Given the description of an element on the screen output the (x, y) to click on. 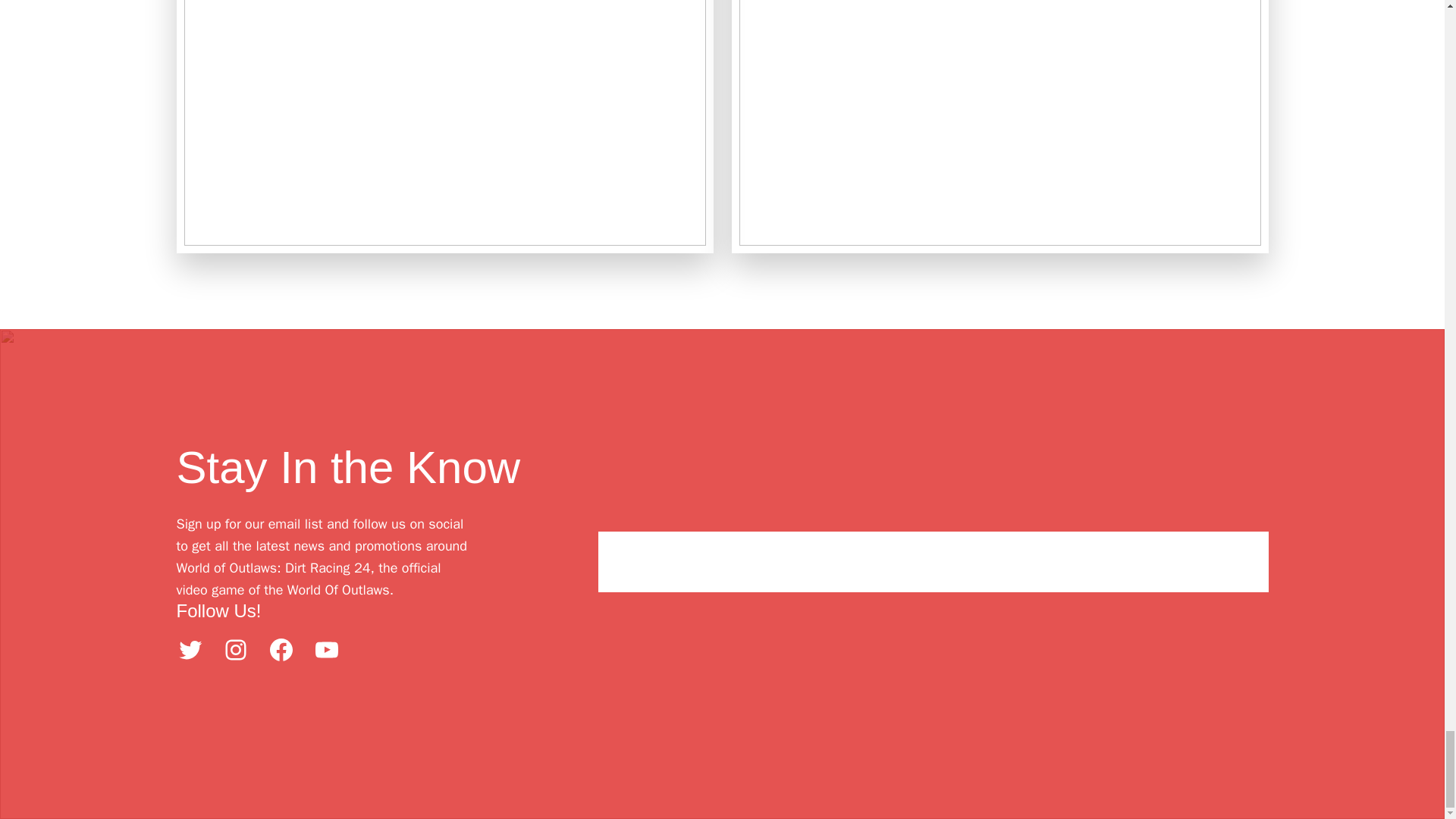
YouTube (326, 649)
Facebook (280, 649)
Twitter (189, 649)
Instagram (234, 649)
